Given the description of an element on the screen output the (x, y) to click on. 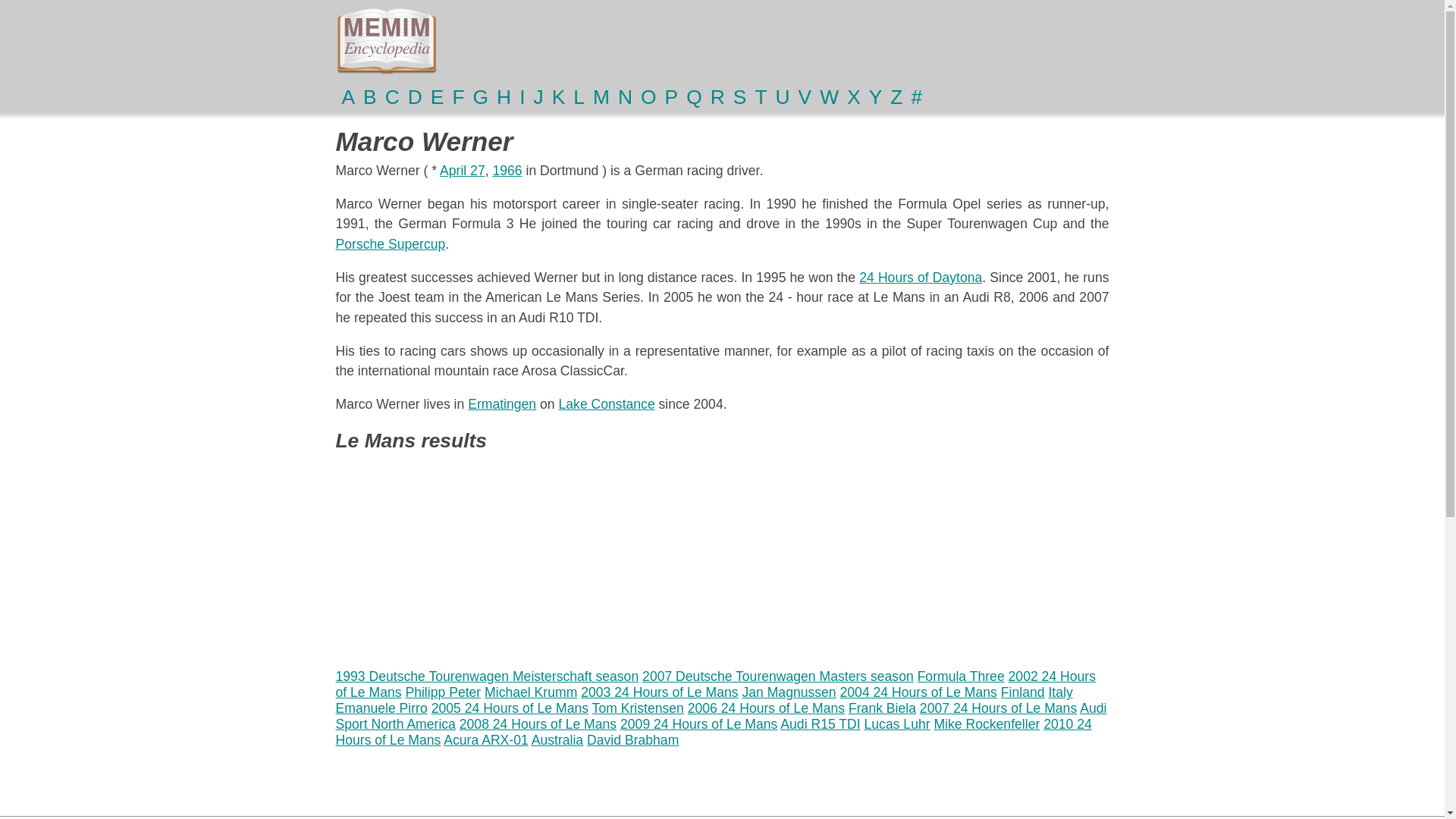
1966 (506, 170)
2007 Deutsche Tourenwagen Masters season (778, 676)
Michael Krumm (530, 692)
memim.com main page (385, 41)
Formula Three (960, 676)
April 27 (461, 170)
Lake Constance (607, 403)
Philipp Peter (442, 692)
Ermatingen (501, 403)
24 Hours of Daytona (920, 277)
2002 24 Hours of Le Mans (715, 684)
1993 Deutsche Tourenwagen Meisterschaft season (486, 676)
Porsche Supercup (389, 243)
